Given the description of an element on the screen output the (x, y) to click on. 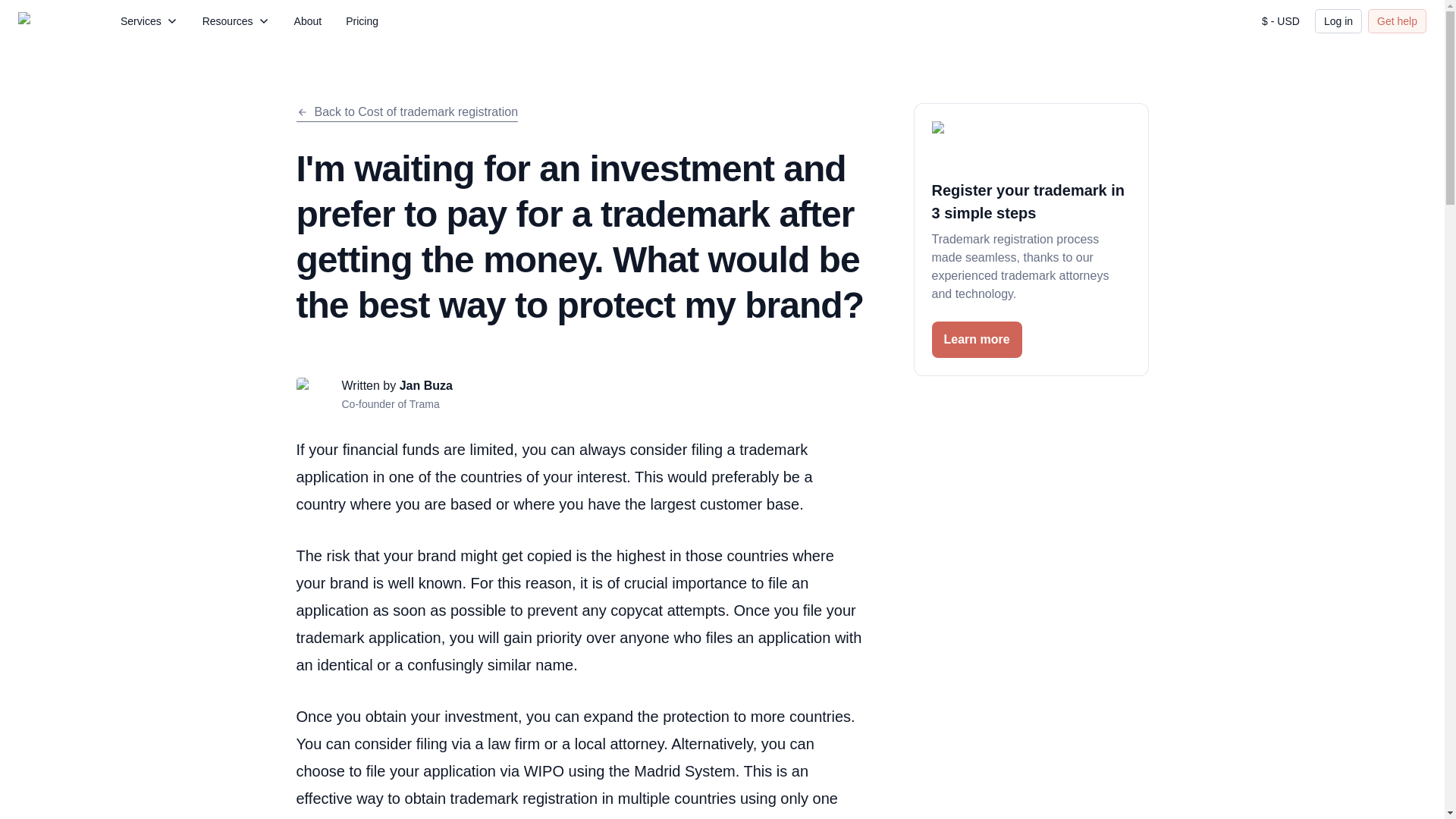
Resources (236, 21)
Services (149, 21)
